Given the description of an element on the screen output the (x, y) to click on. 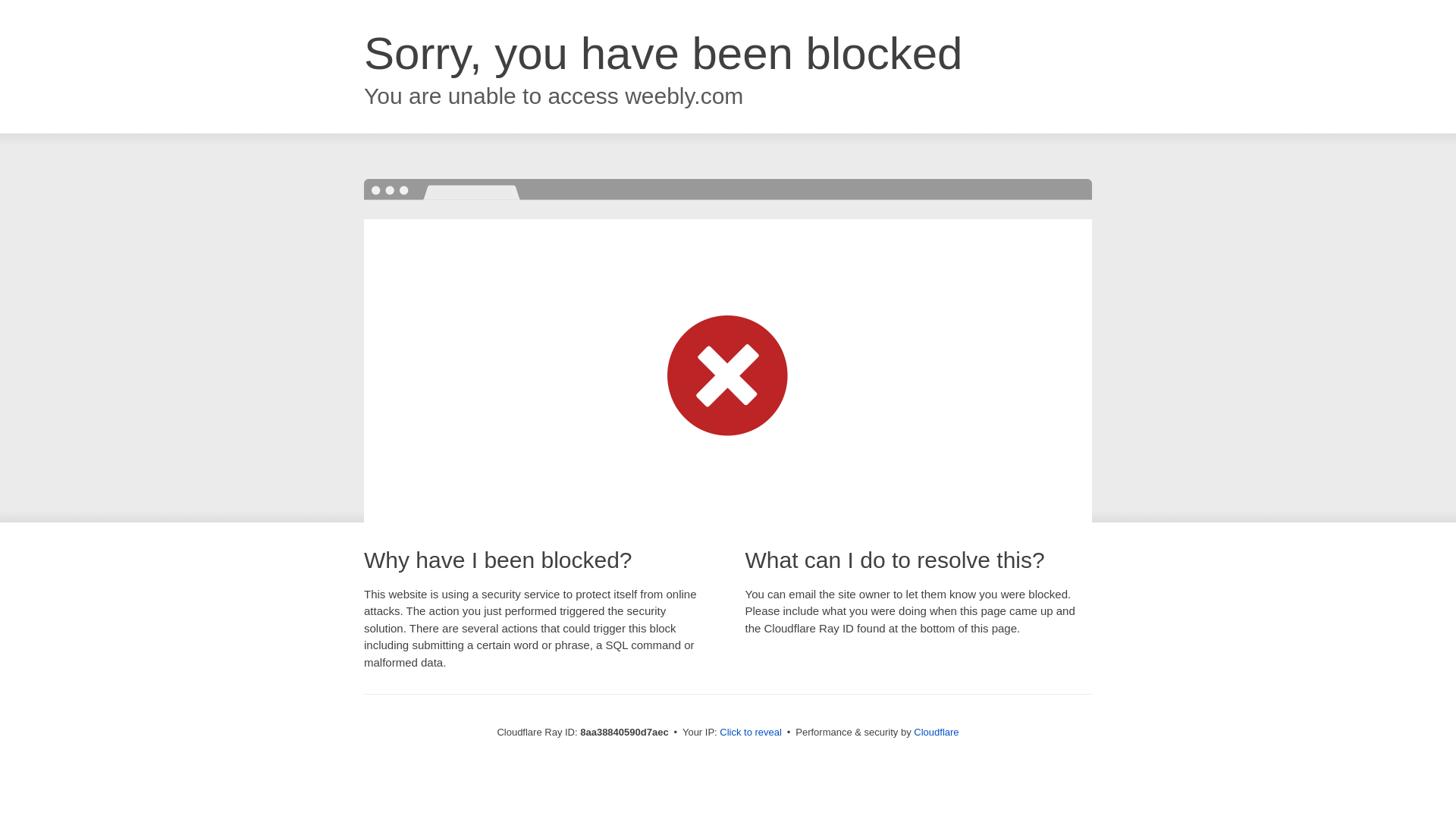
Click to reveal (750, 732)
Cloudflare (936, 731)
